Given the description of an element on the screen output the (x, y) to click on. 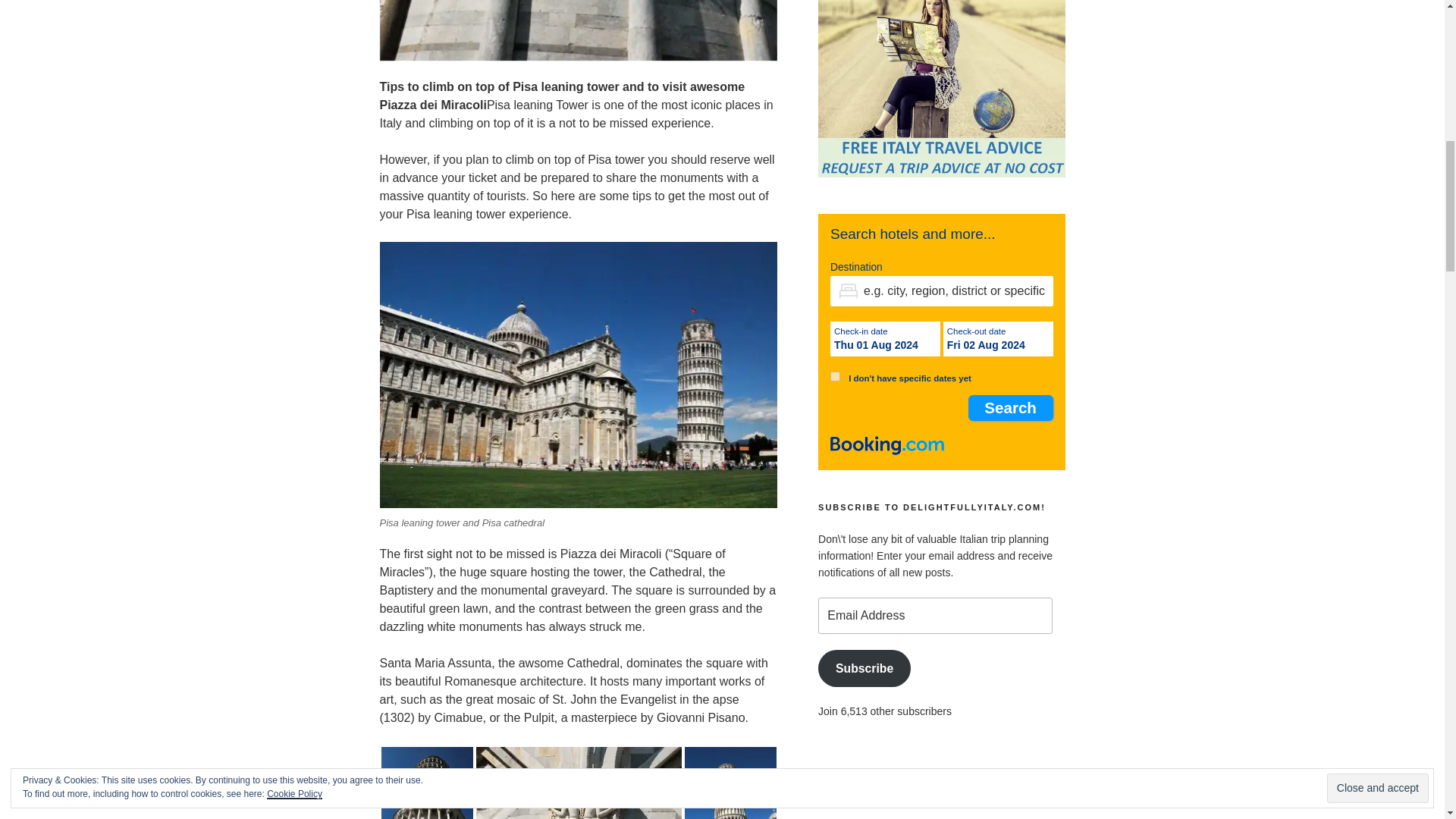
Search (1010, 406)
on (834, 376)
